Given the description of an element on the screen output the (x, y) to click on. 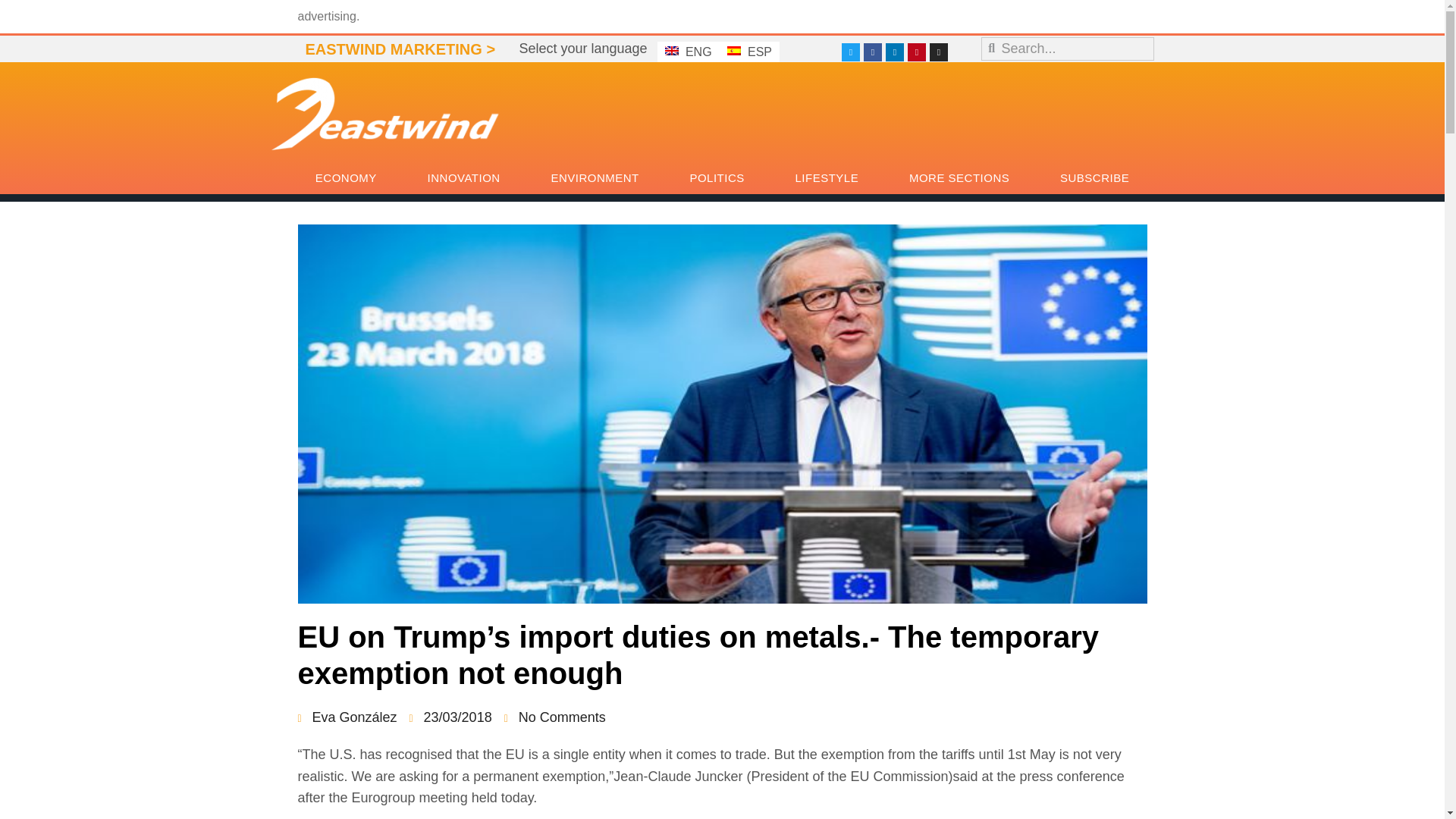
POLITICS (716, 177)
ENVIRONMENT (594, 177)
INNOVATION (463, 177)
ECONOMY (345, 177)
logo (384, 112)
SUBSCRIBE (1094, 177)
ENG (688, 51)
ESP (748, 51)
LIFESTYLE (826, 177)
Search (1073, 48)
MORE SECTIONS (959, 177)
